Given the description of an element on the screen output the (x, y) to click on. 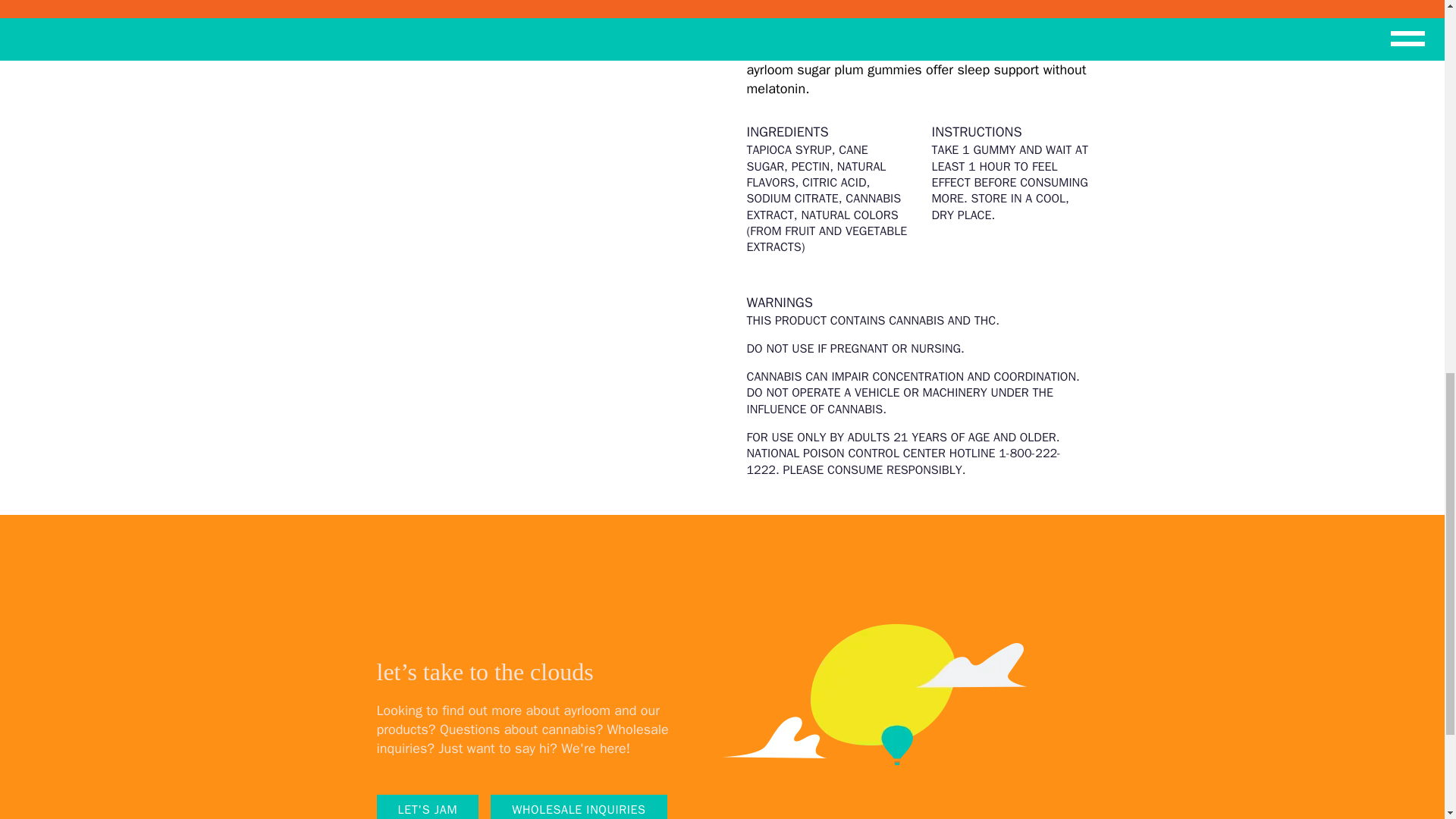
LET'S JAM (427, 806)
WHOLESALE INQUIRIES (578, 806)
